Given the description of an element on the screen output the (x, y) to click on. 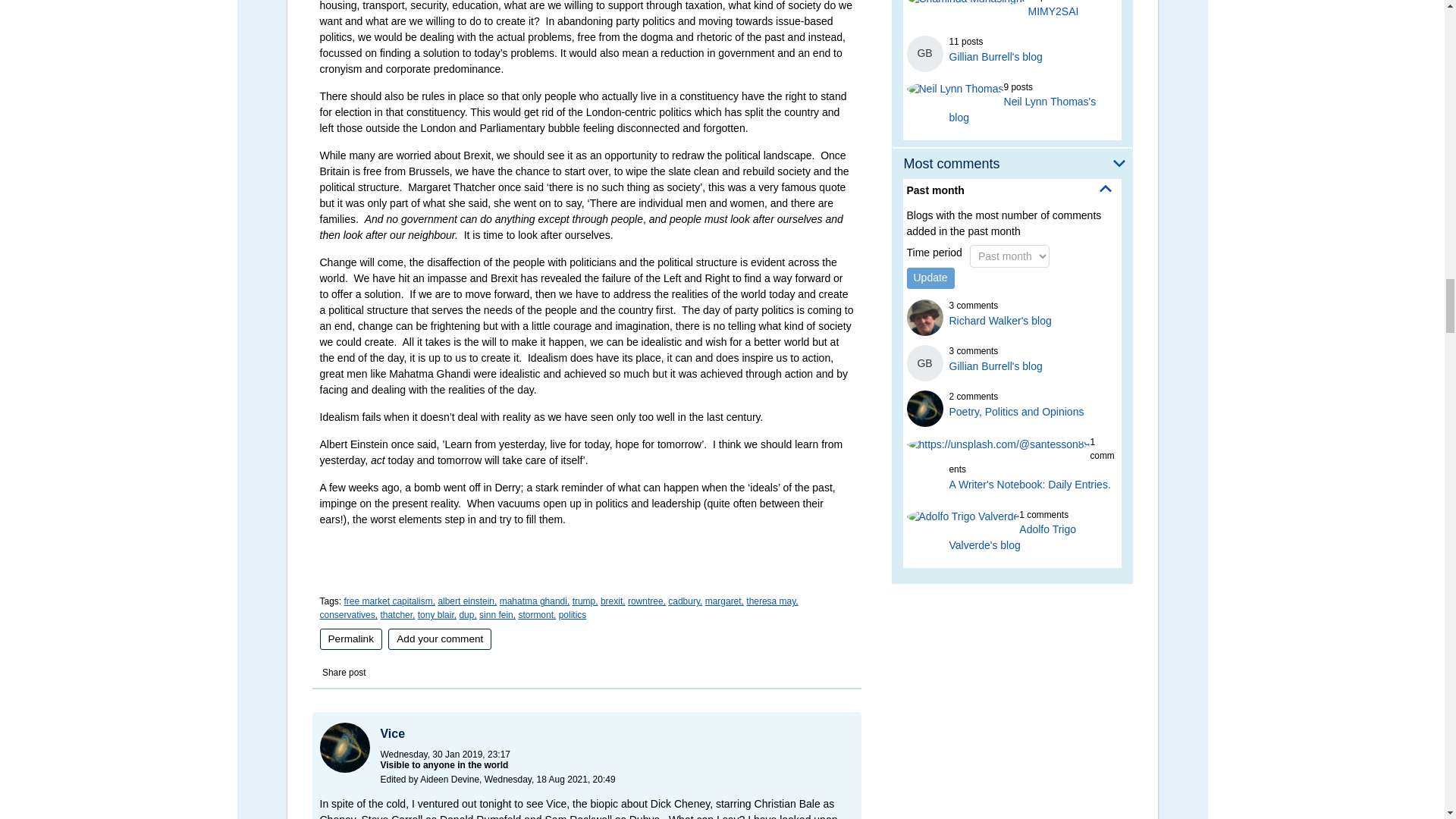
Update (931, 278)
